Given the description of an element on the screen output the (x, y) to click on. 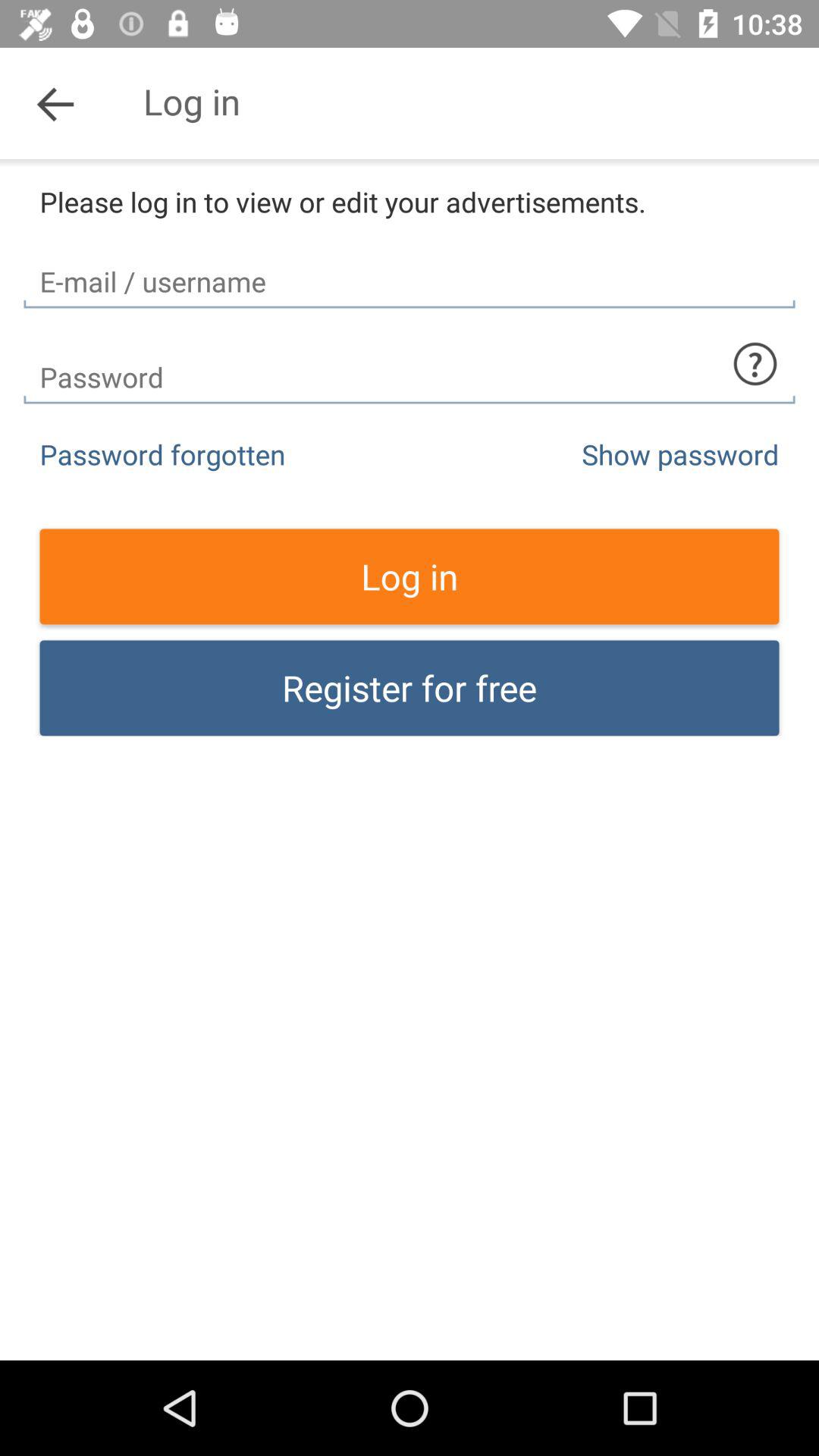
turn on the item below the log in icon (409, 687)
